Given the description of an element on the screen output the (x, y) to click on. 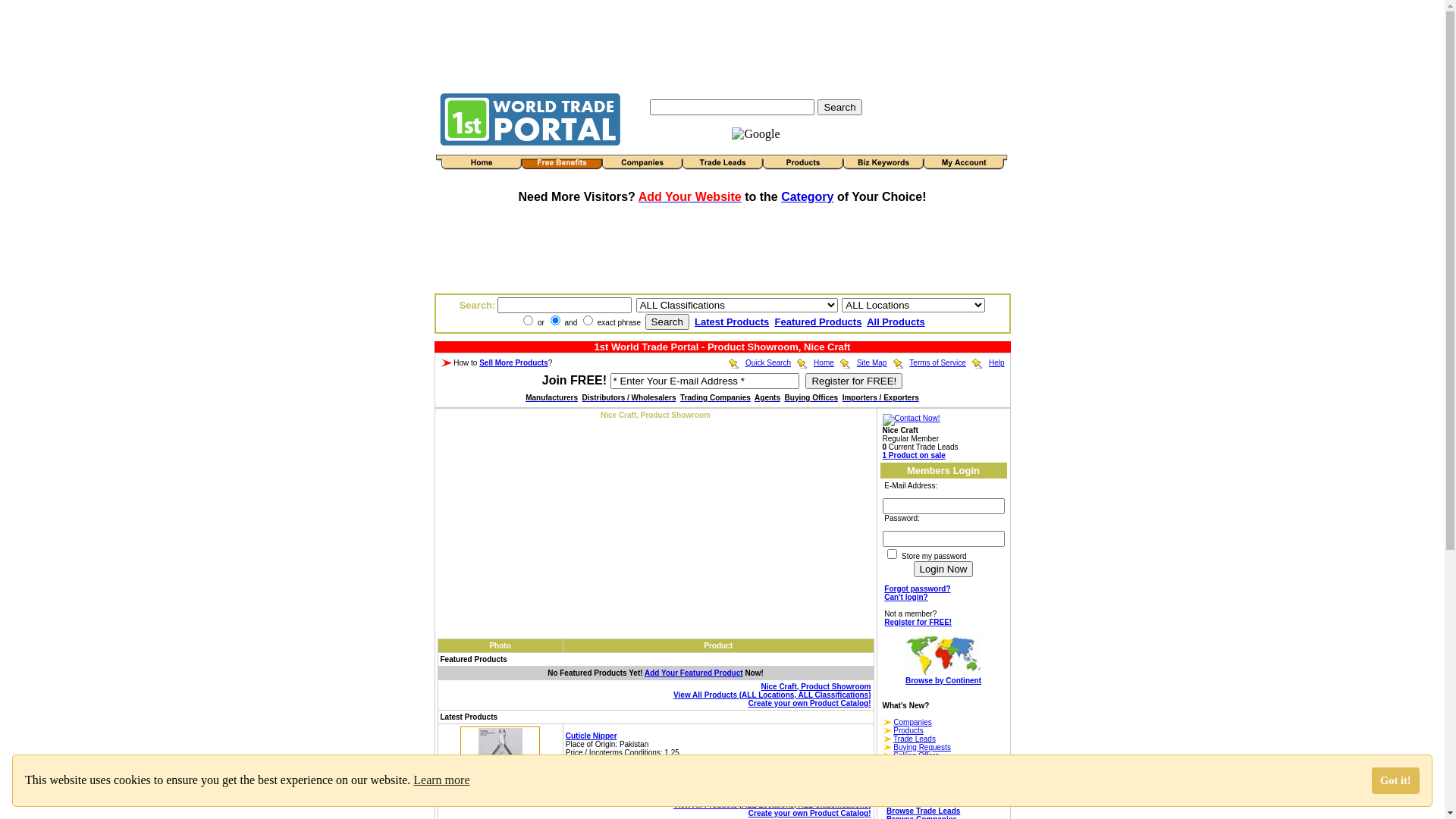
Home Element type: text (896, 794)
Can't login? Element type: text (905, 597)
Terms of Service Element type: text (937, 362)
Products Element type: text (907, 730)
"Beauty Equipment" Element type: text (736, 769)
Add Your Website Element type: text (689, 196)
Site Map Element type: text (871, 362)
"Health & Beauty" Element type: text (666, 769)
Selling Offers Element type: text (915, 755)
Cuticle Nipper Element type: text (591, 735)
Manufacturers Element type: text (551, 397)
Latest Products Element type: text (731, 321)
Buying Offices Element type: text (811, 397)
Importers / Exporters Element type: text (880, 397)
Home Element type: text (823, 362)
Register for FREE! Element type: text (853, 381)
Search Element type: text (667, 321)
Forgot password? Element type: text (917, 588)
Agents Element type: text (767, 397)
Trading Companies Element type: text (715, 397)
Help Element type: text (996, 362)
Browse Trade Leads Element type: text (923, 810)
Distributors / Wholesalers Element type: text (629, 397)
More Products from Pakistan Element type: text (625, 760)
Trade Leads Element type: text (914, 738)
All Products Element type: text (895, 321)
Search Element type: text (839, 106)
Login Now Element type: text (942, 569)
Featured Products Element type: text (818, 321)
Sell More Products Element type: text (513, 362)
Quick Search Element type: text (767, 362)
1 Product on sale Element type: text (913, 455)
Browse by Country Element type: text (921, 802)
Companies Element type: text (912, 722)
Create your own Product Catalog! Element type: text (809, 813)
Learn more Element type: text (441, 780)
Browse by Continent Element type: text (943, 667)
Got it! Element type: text (1395, 780)
Category Element type: text (807, 196)
Register for FREE! Element type: text (917, 622)
Create your own Product Catalog! Element type: text (809, 703)
Opportunities Element type: text (915, 763)
Nice Craft Element type: text (852, 777)
Add Your Featured Product Element type: text (693, 672)
Buying Requests Element type: text (921, 747)
